Given the description of an element on the screen output the (x, y) to click on. 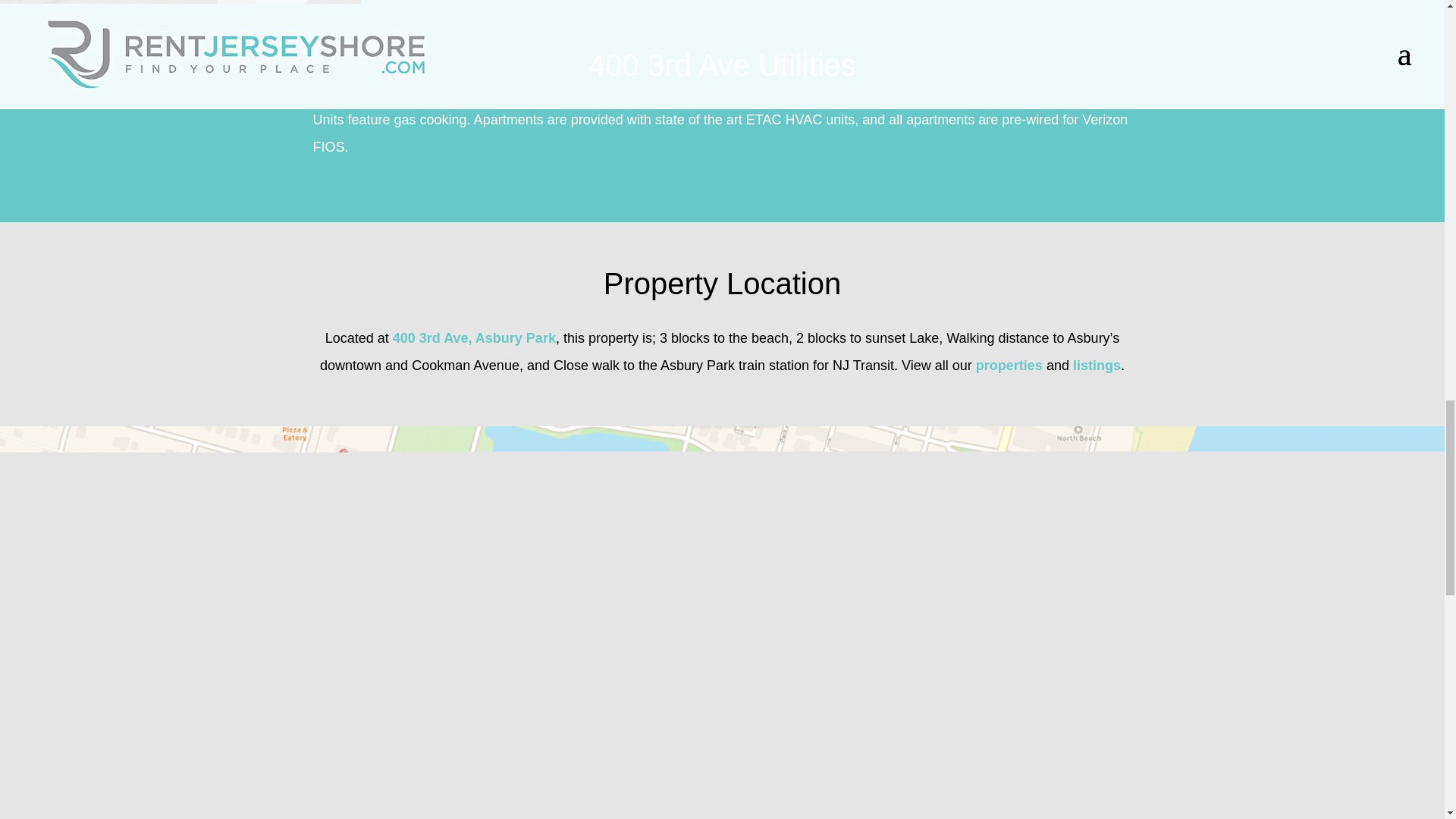
400-3rd-ave-interior-001 (180, 3)
